Given the description of an element on the screen output the (x, y) to click on. 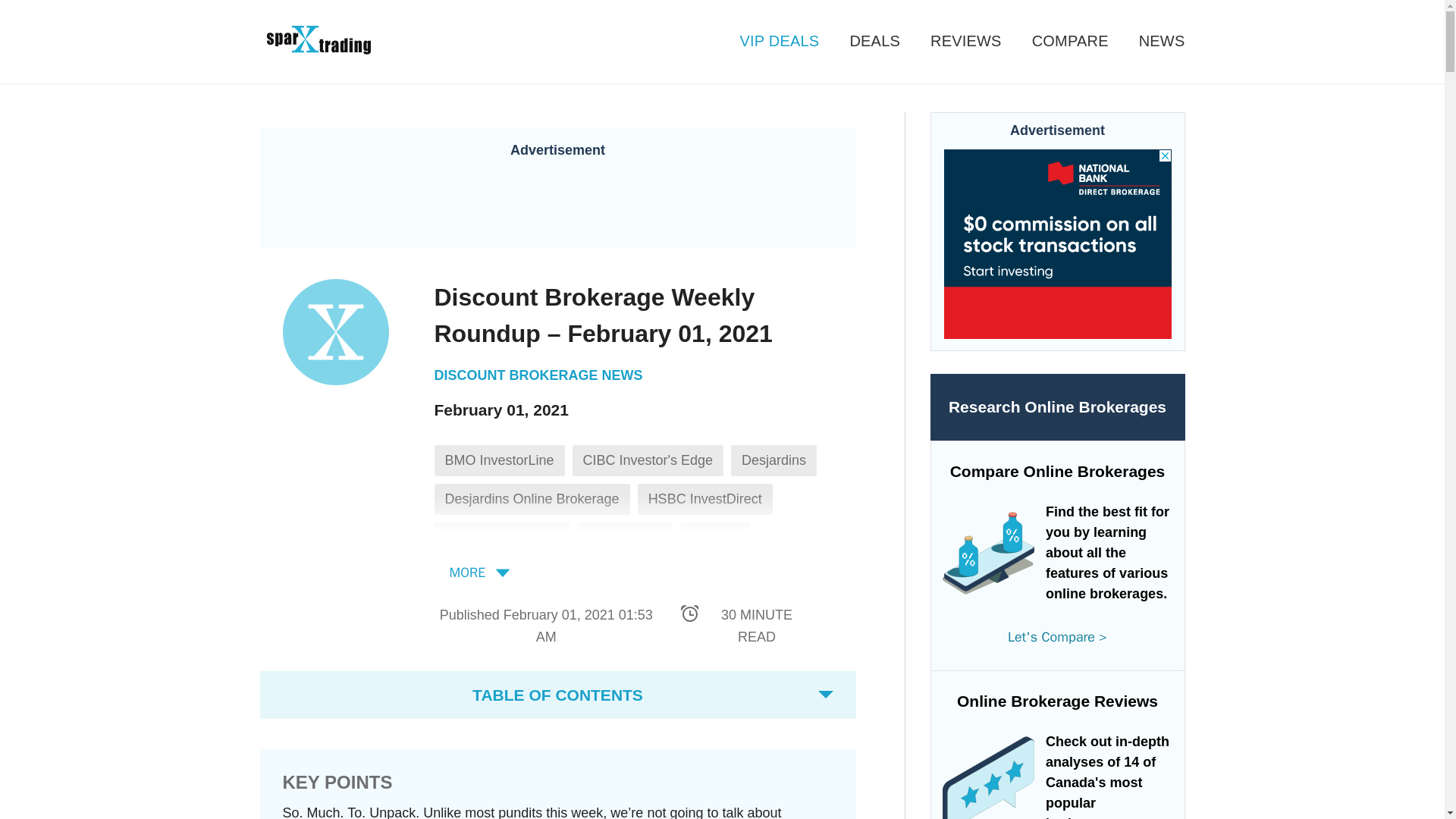
HSBC InvestDirect (705, 499)
BMO InvestorLine (498, 460)
DEALS (858, 40)
MORE (479, 572)
DISCOUNT BROKERAGE NEWS (537, 375)
InvestorLine (624, 537)
COMPARE (1054, 40)
REVIEWS (950, 40)
Interactive Brokers (501, 537)
Desjardins Online Brokerage (530, 499)
VIP DEALS (764, 41)
3rd party ad content (558, 202)
iTRADE (715, 537)
Desjardins (773, 460)
CIBC Investor's Edge (647, 460)
